Given the description of an element on the screen output the (x, y) to click on. 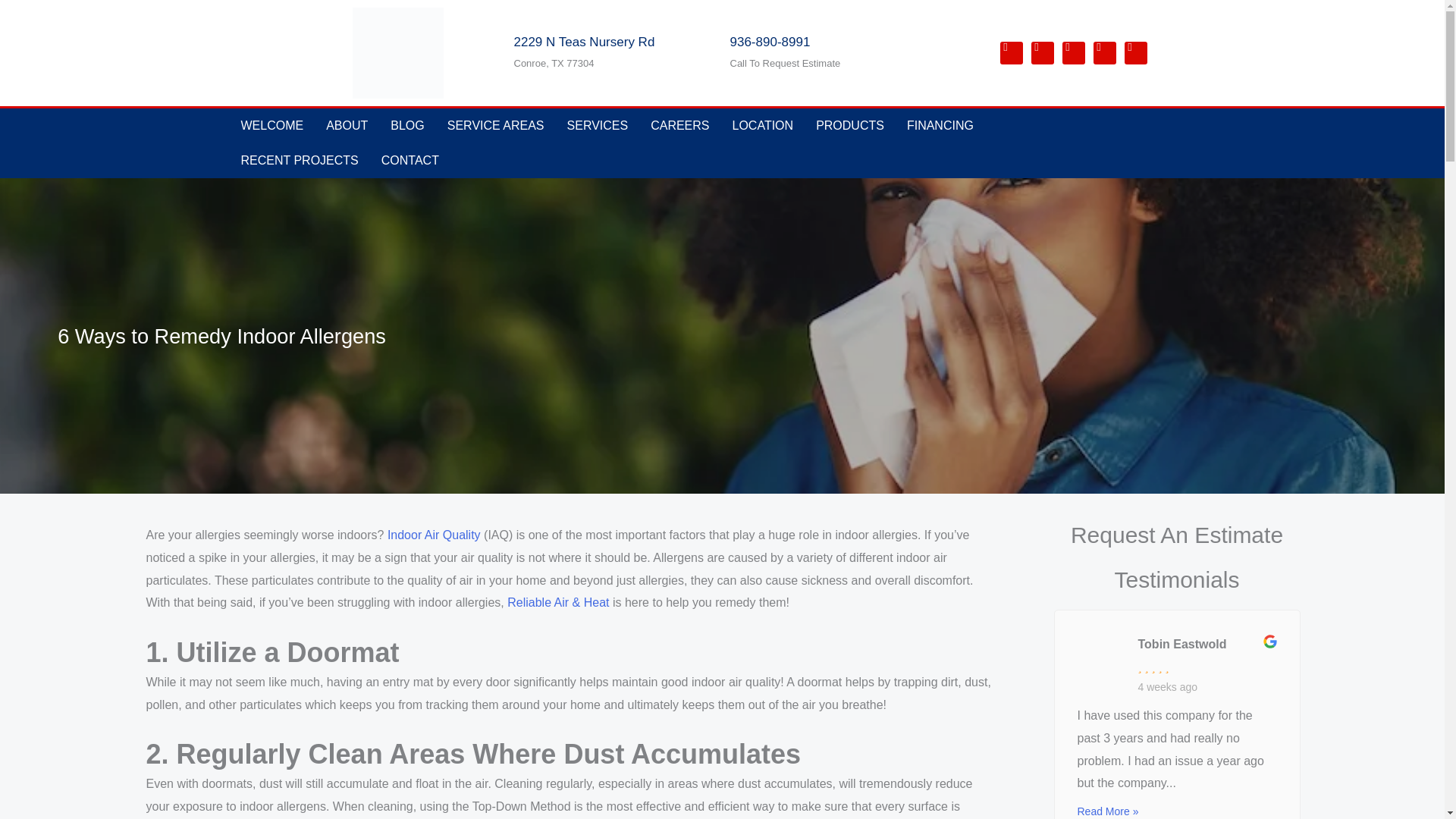
Linkedin (1042, 52)
LOCATION (762, 125)
FINANCING (940, 125)
CONTACT (409, 160)
Facebook-f (1010, 52)
Twitter (1072, 52)
WELCOME (271, 125)
CAREERS (679, 125)
Google (1104, 52)
PRODUCTS (850, 125)
